Given the description of an element on the screen output the (x, y) to click on. 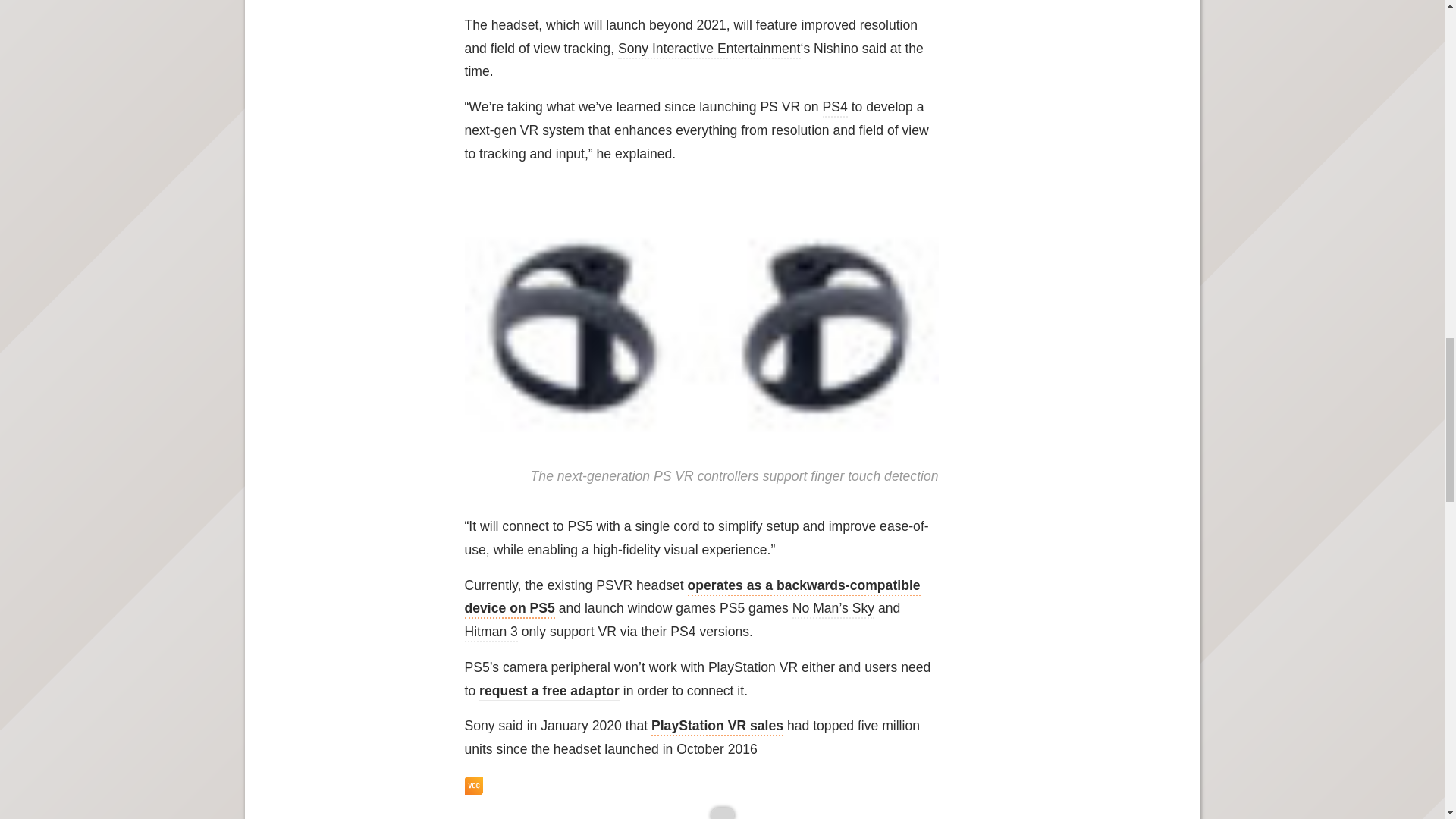
operates as a backwards-compatible device on PS5 (692, 598)
Sony Interactive Entertainment (708, 49)
PS4 (834, 108)
